Given the description of an element on the screen output the (x, y) to click on. 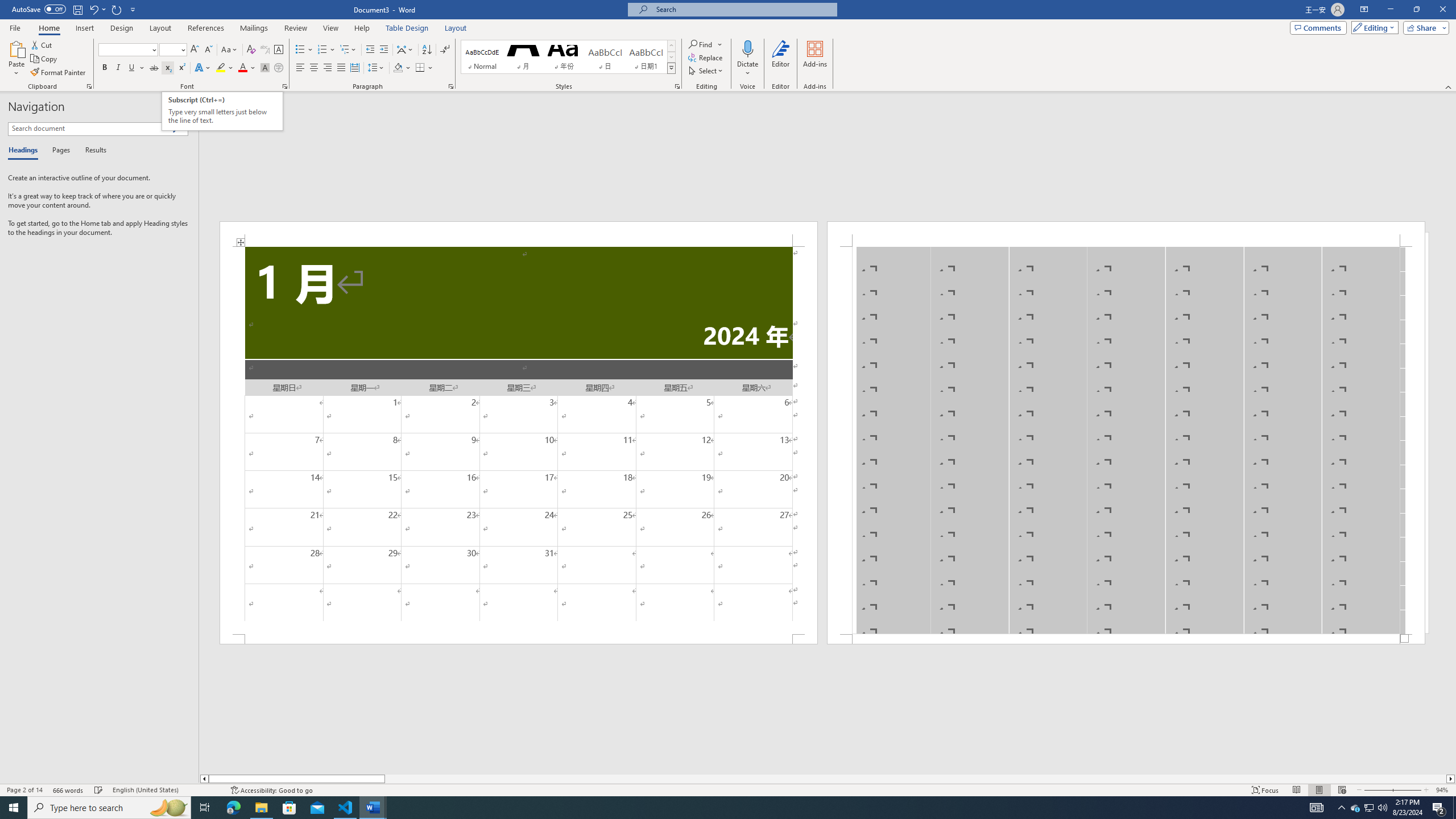
Word Count 666 words (68, 790)
Text Effects and Typography (202, 67)
Multilevel List (347, 49)
Paragraph... (450, 85)
Decrease Indent (370, 49)
Justify (340, 67)
Mode (1372, 27)
